Given the description of an element on the screen output the (x, y) to click on. 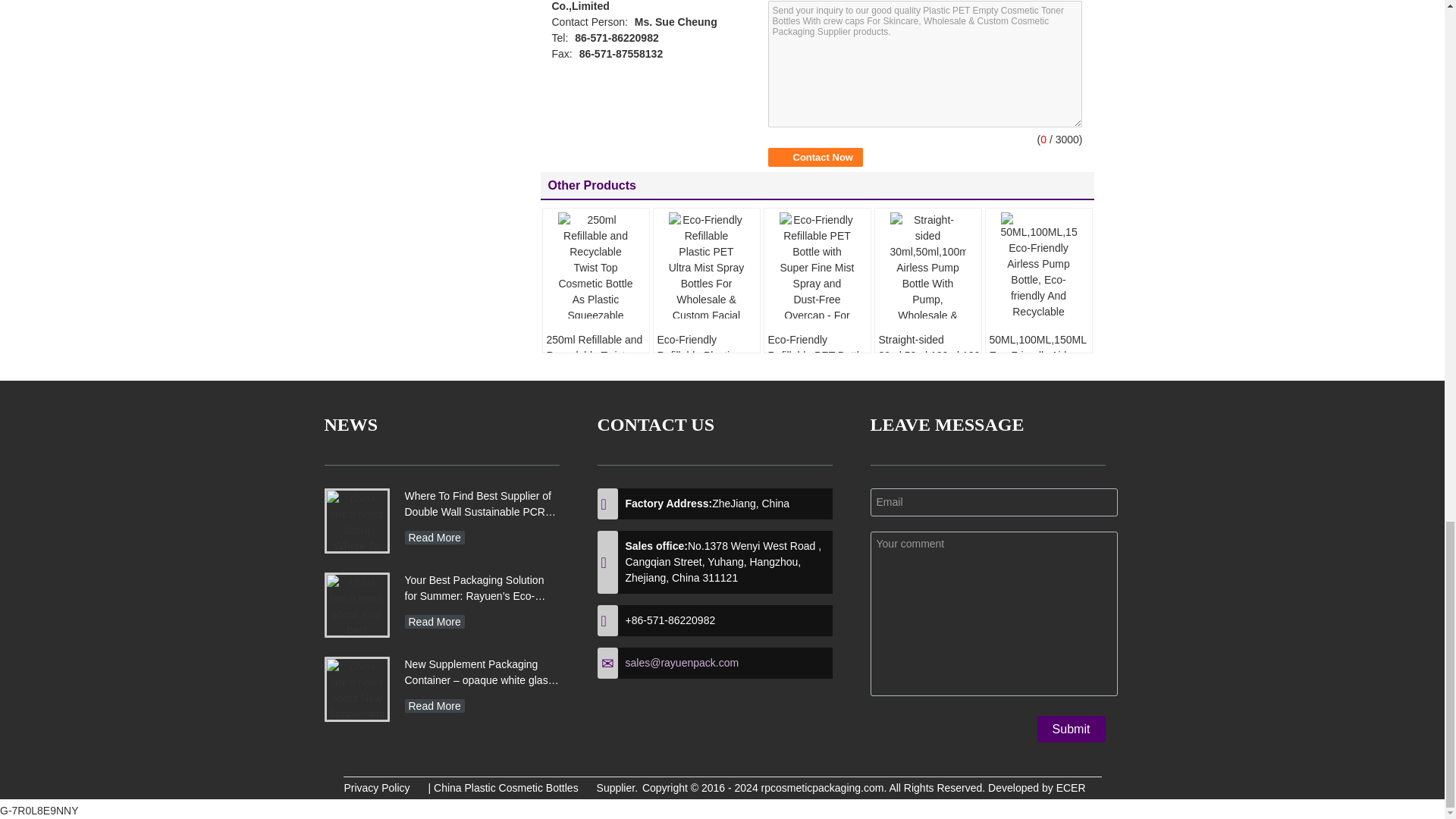
Contact Now (814, 157)
Submit (1070, 728)
